Given the description of an element on the screen output the (x, y) to click on. 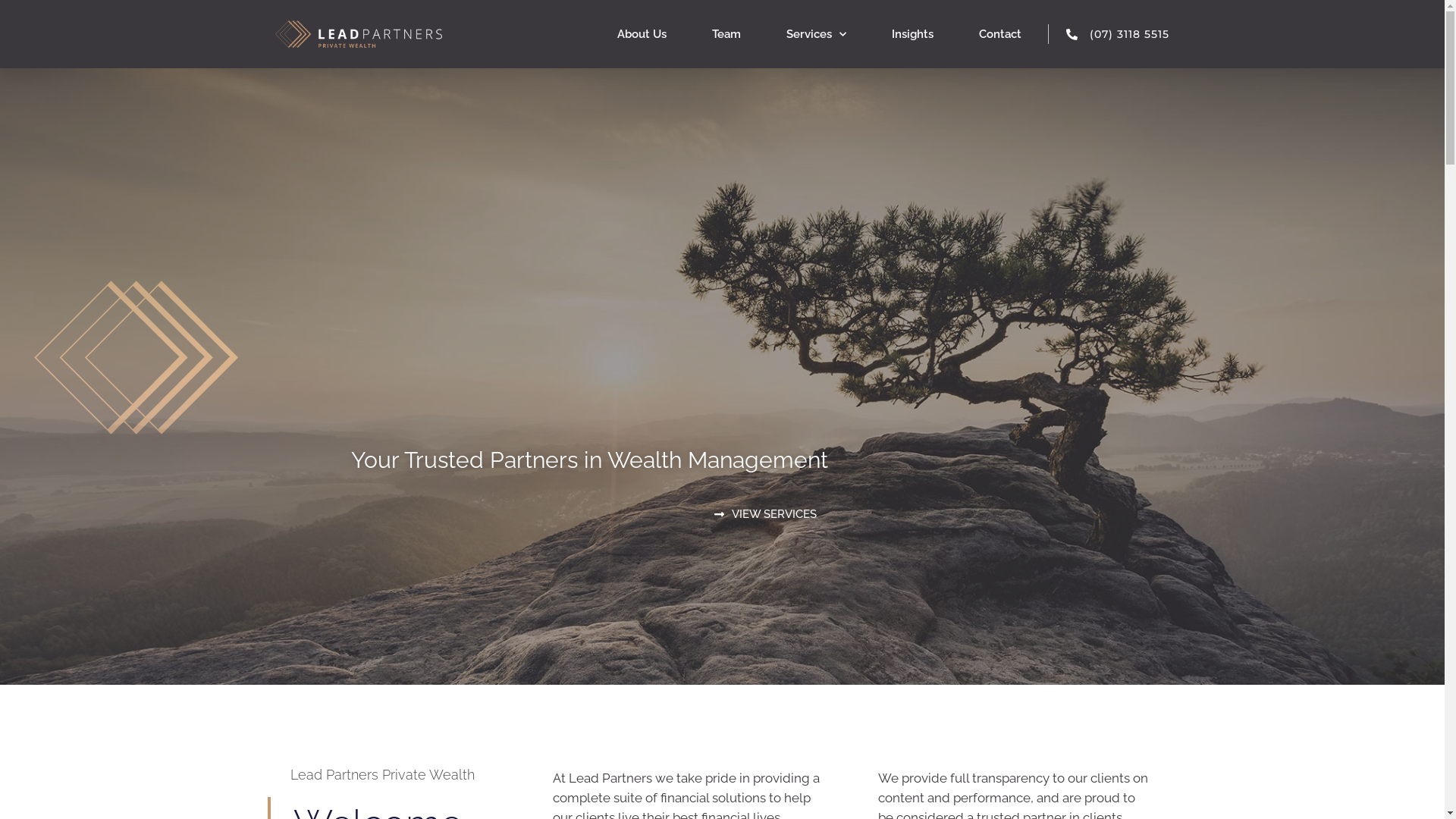
Insights Element type: text (912, 34)
About Us Element type: text (641, 34)
Contact Element type: text (1000, 34)
Team Element type: text (726, 34)
(07) 3118 5515 Element type: text (1108, 33)
Services Element type: text (816, 34)
VIEW SERVICES Element type: text (765, 514)
